Given the description of an element on the screen output the (x, y) to click on. 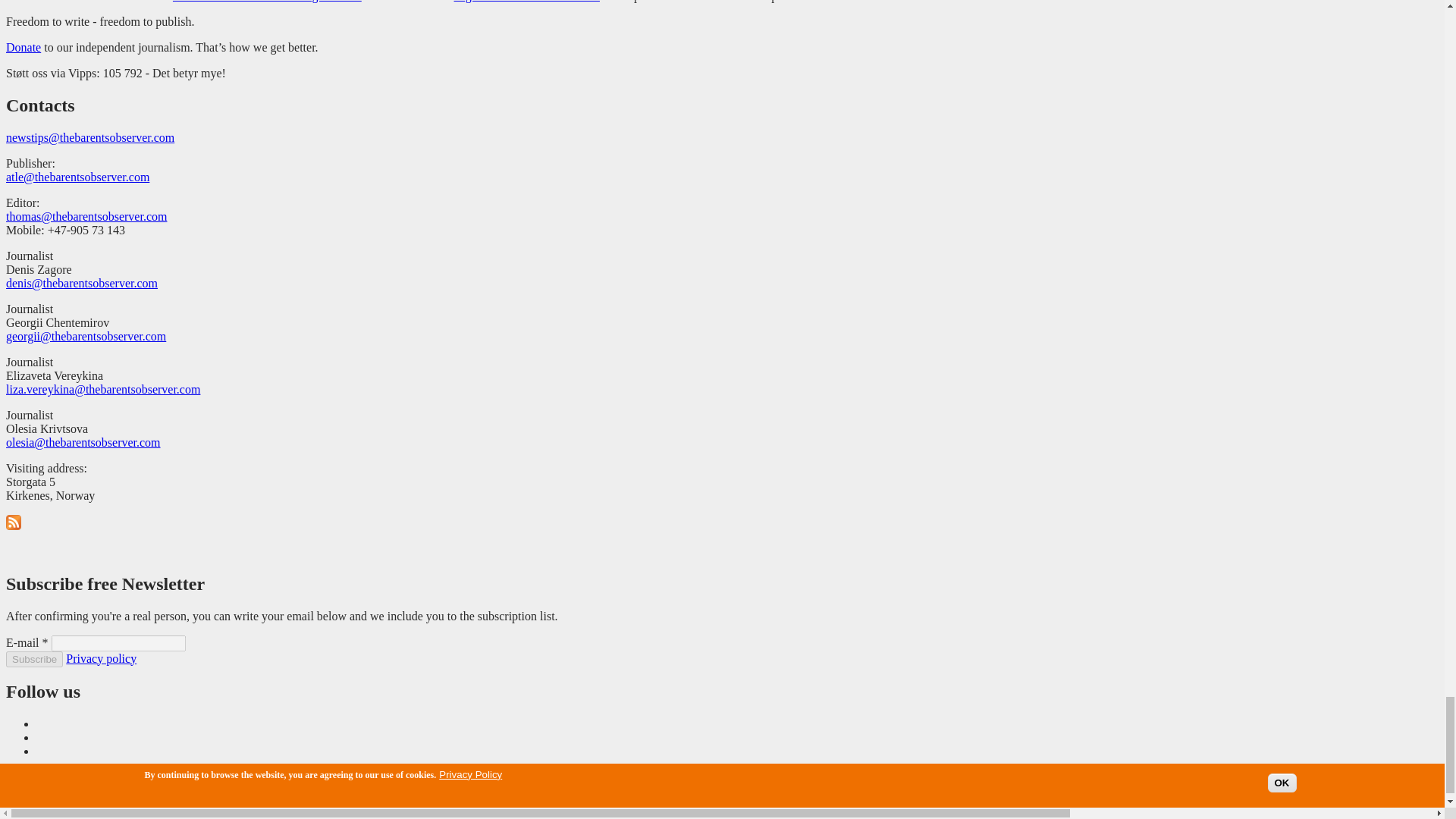
Subscribe (33, 659)
